Given the description of an element on the screen output the (x, y) to click on. 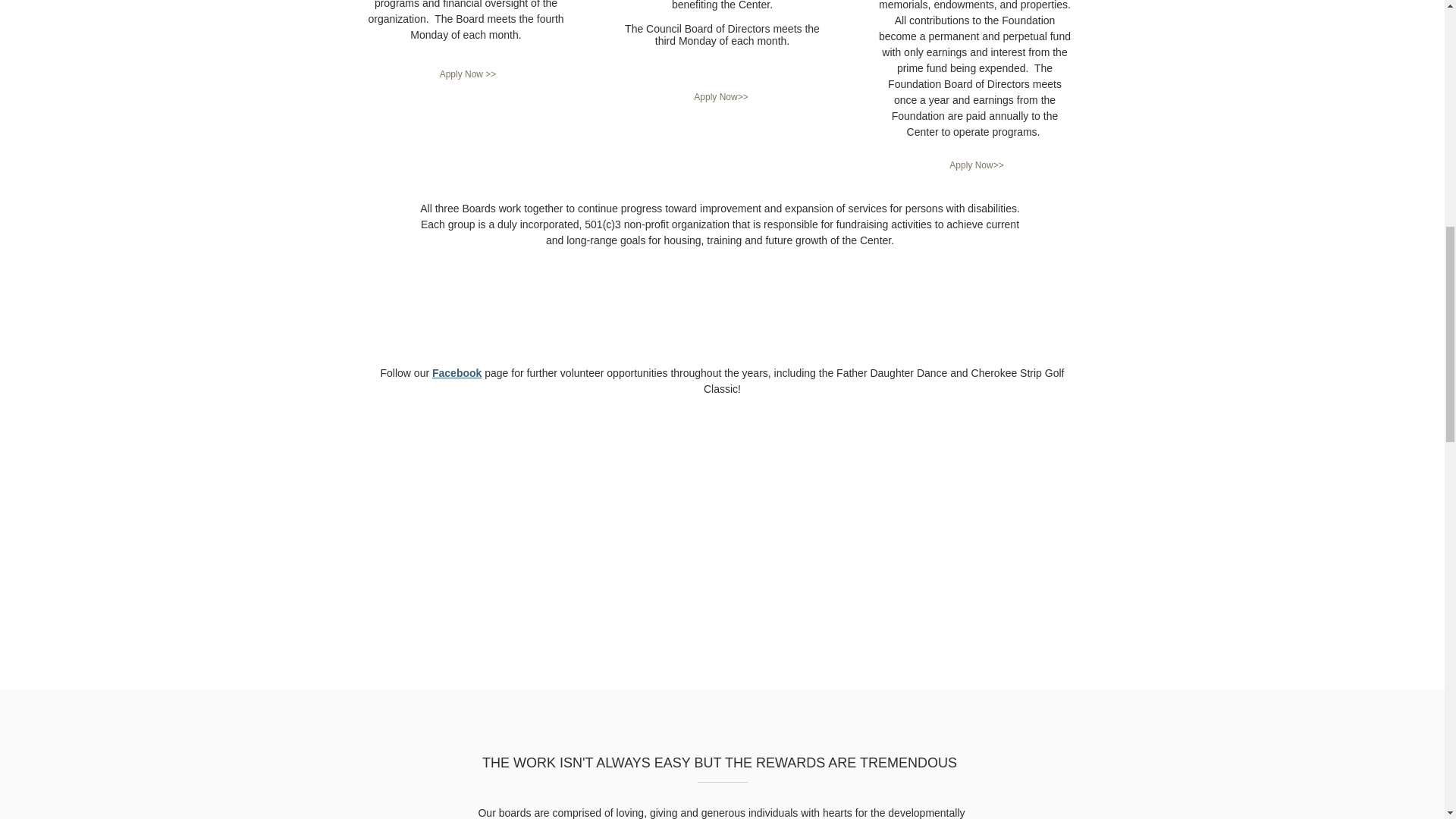
Facebook (456, 372)
